Given the description of an element on the screen output the (x, y) to click on. 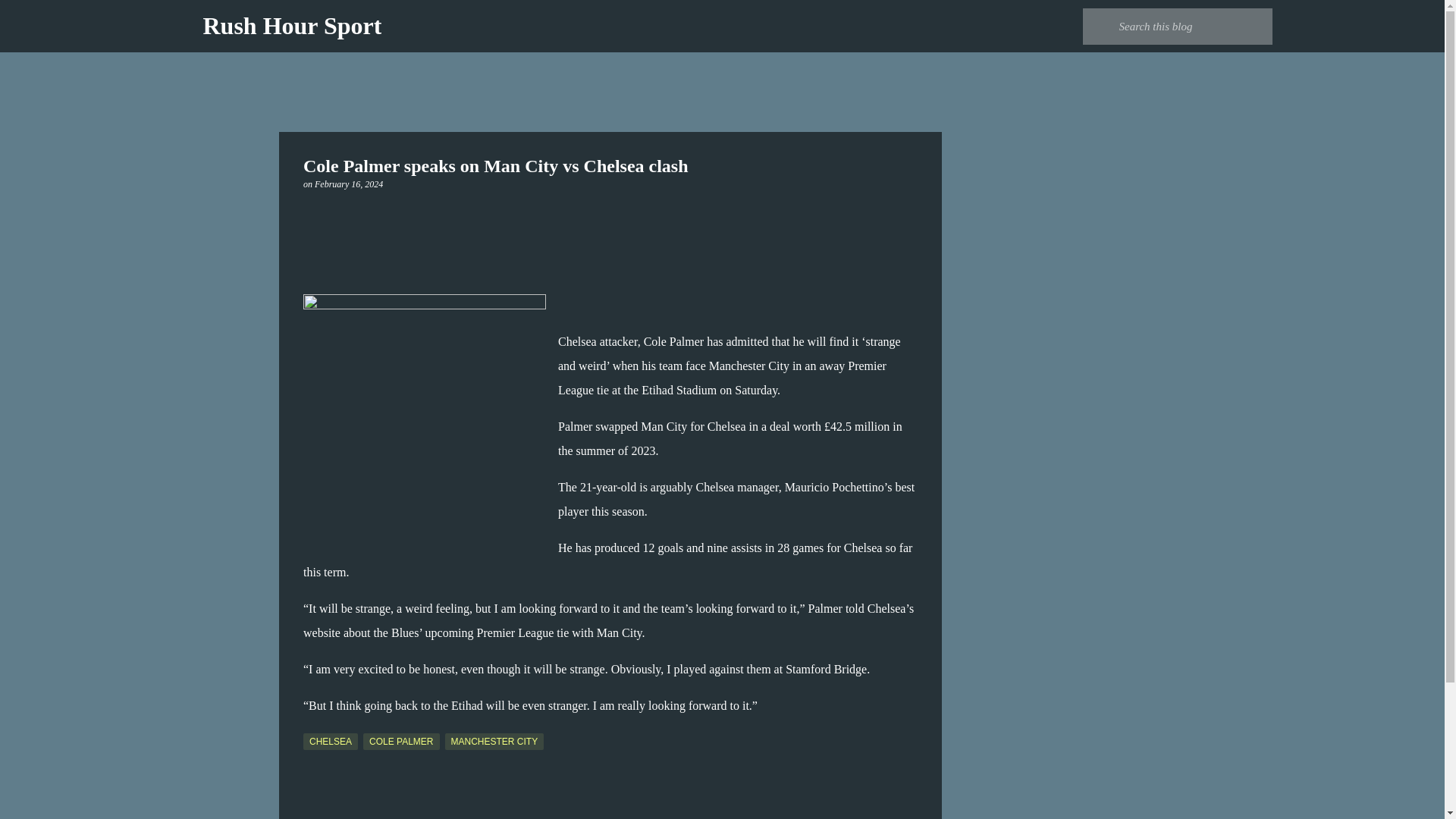
Rush Hour Sport (292, 25)
COLE PALMER (400, 741)
CHELSEA (330, 741)
February 16, 2024 (348, 184)
permanent link (348, 184)
MANCHESTER CITY (493, 741)
